Given the description of an element on the screen output the (x, y) to click on. 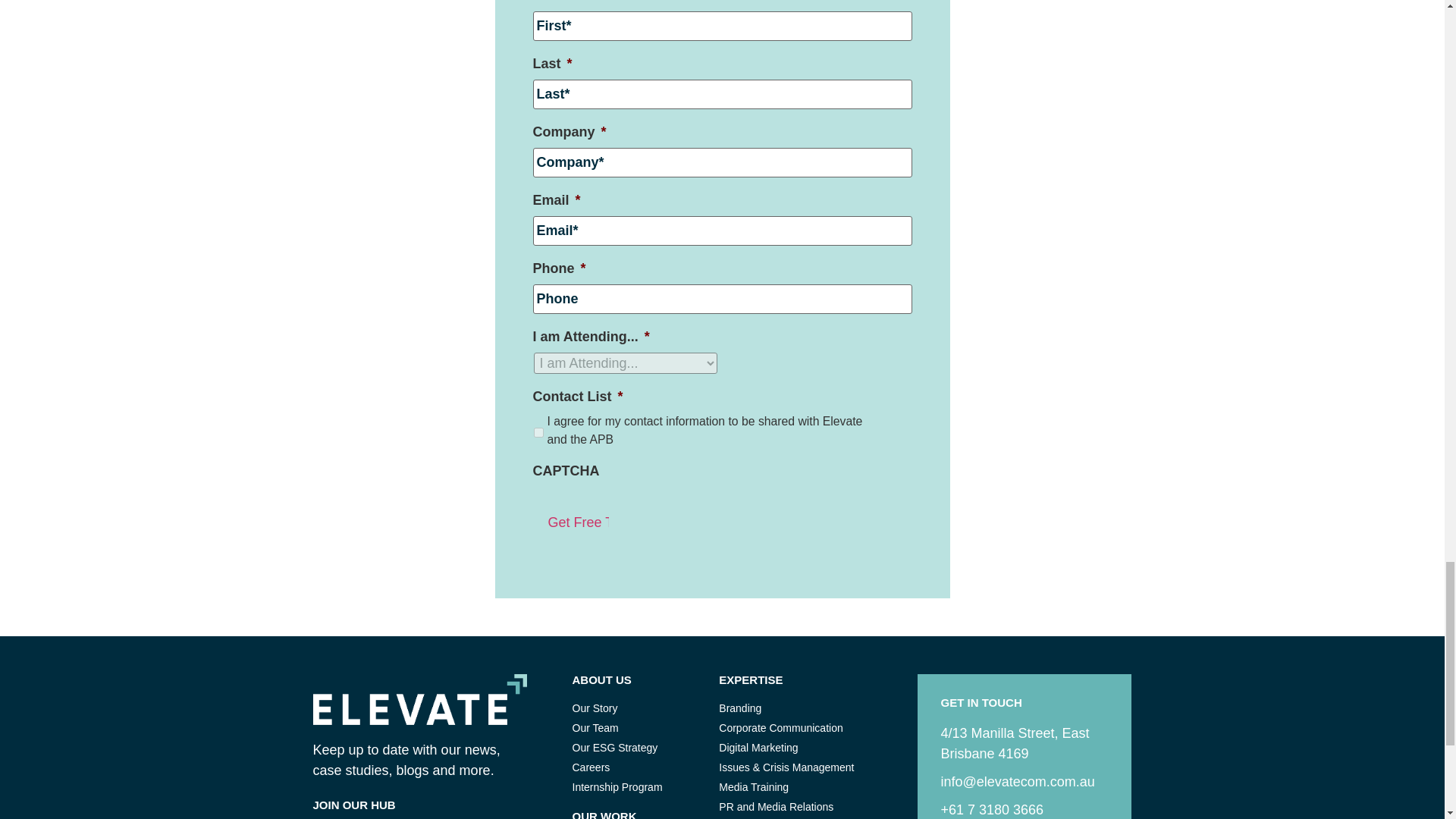
Get Free Ticket (570, 522)
